Given the description of an element on the screen output the (x, y) to click on. 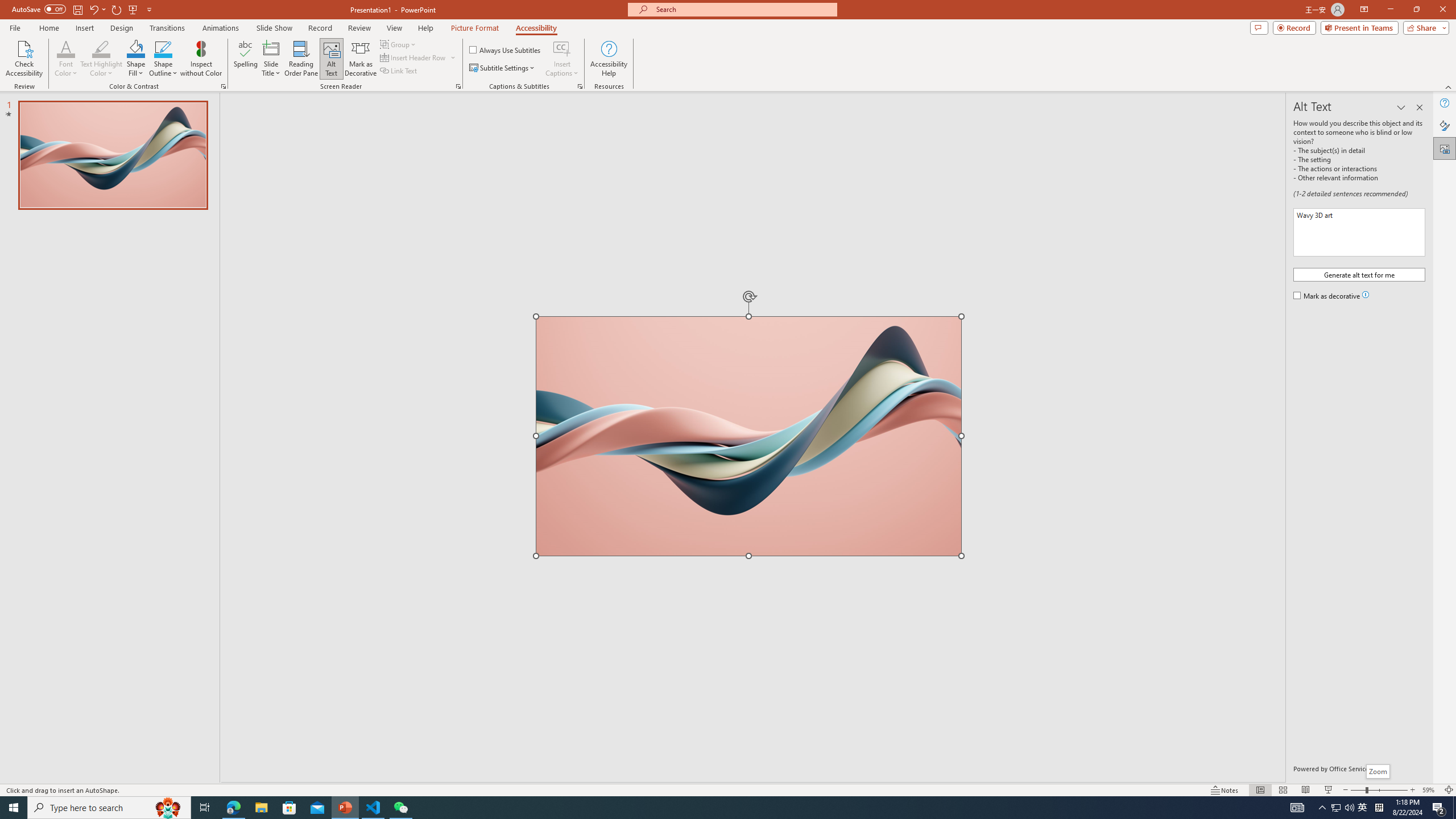
Screen Reader (458, 85)
Picture Format (475, 28)
Wavy 3D art (747, 435)
Always Use Subtitles (505, 49)
